Given the description of an element on the screen output the (x, y) to click on. 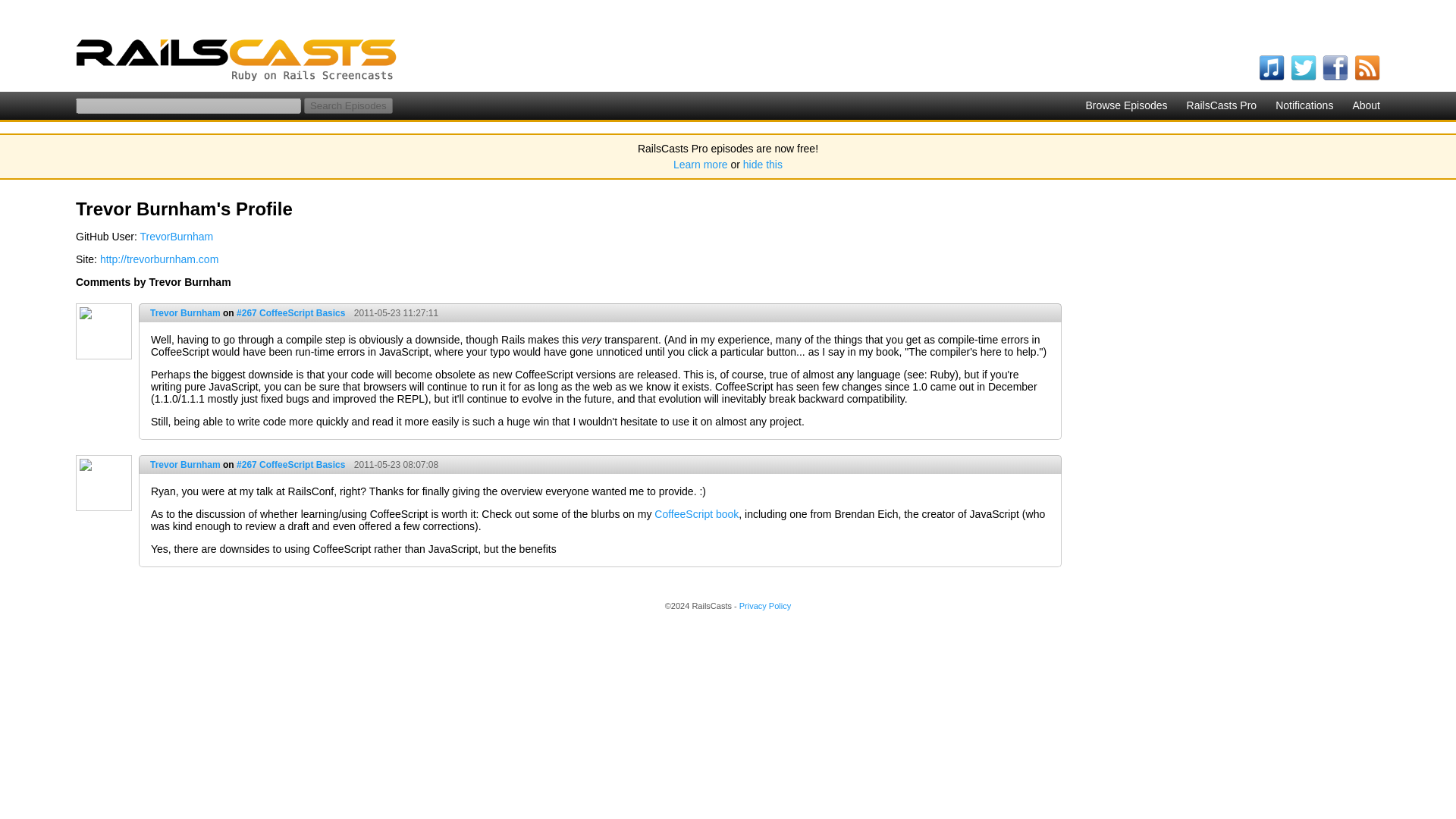
Trevor Burnham (185, 312)
Notifications (1304, 105)
RailsCasts Pro (1221, 105)
CoffeeScript book (695, 513)
hide this (762, 164)
2011-05-23 11:27:11 (392, 312)
Trevor Burnham (185, 464)
Search Episodes (348, 105)
Privacy Policy (764, 605)
2011-05-23 08:07:08 (392, 464)
